Given the description of an element on the screen output the (x, y) to click on. 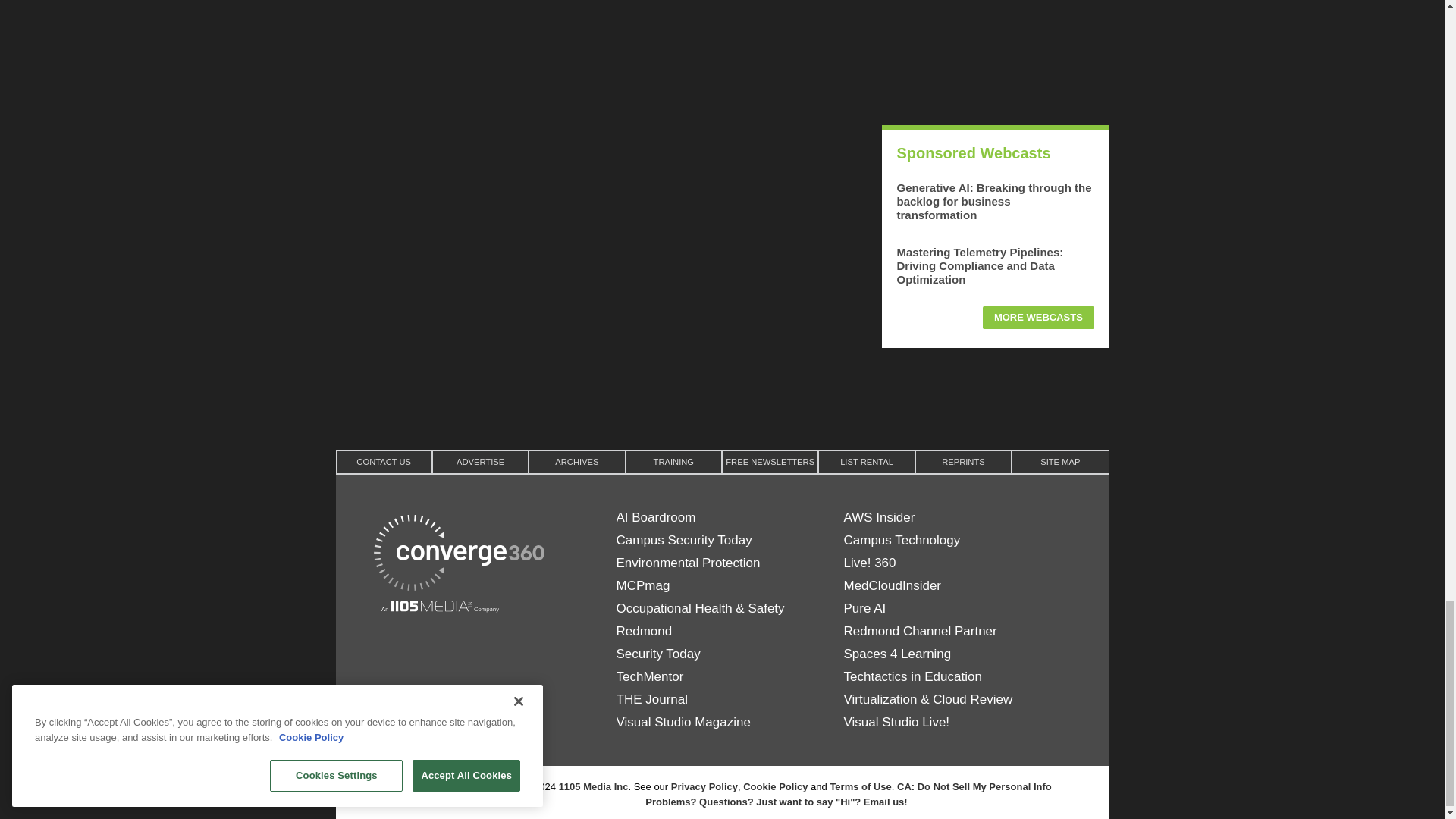
3rd party ad content (994, 54)
3rd party ad content (721, 397)
